Given the description of an element on the screen output the (x, y) to click on. 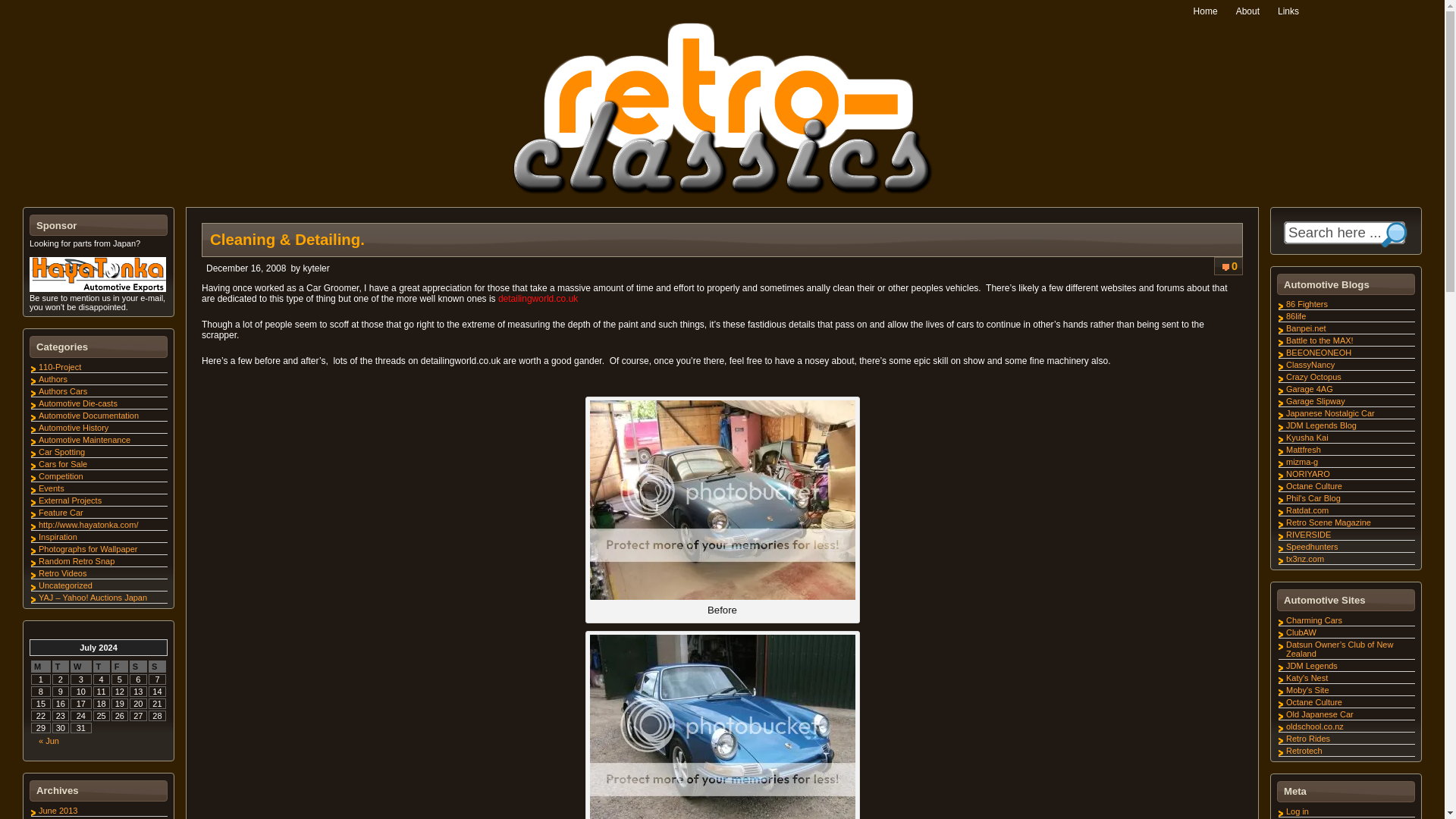
Feature Car (60, 511)
Cars for Sale (63, 463)
retro-classics - automotive blog (722, 108)
Links (1287, 11)
Home (1206, 11)
Random Retro Snap (77, 560)
Porsche 911T (722, 499)
kyteler's C110 Restoration (60, 366)
Authors Cars (63, 390)
retro-classics - automotive blog (722, 191)
Uncategorized (66, 584)
110-Project (60, 366)
Posts by kyteler (315, 267)
Search here .... (1334, 232)
Car Spotting (61, 451)
